Given the description of an element on the screen output the (x, y) to click on. 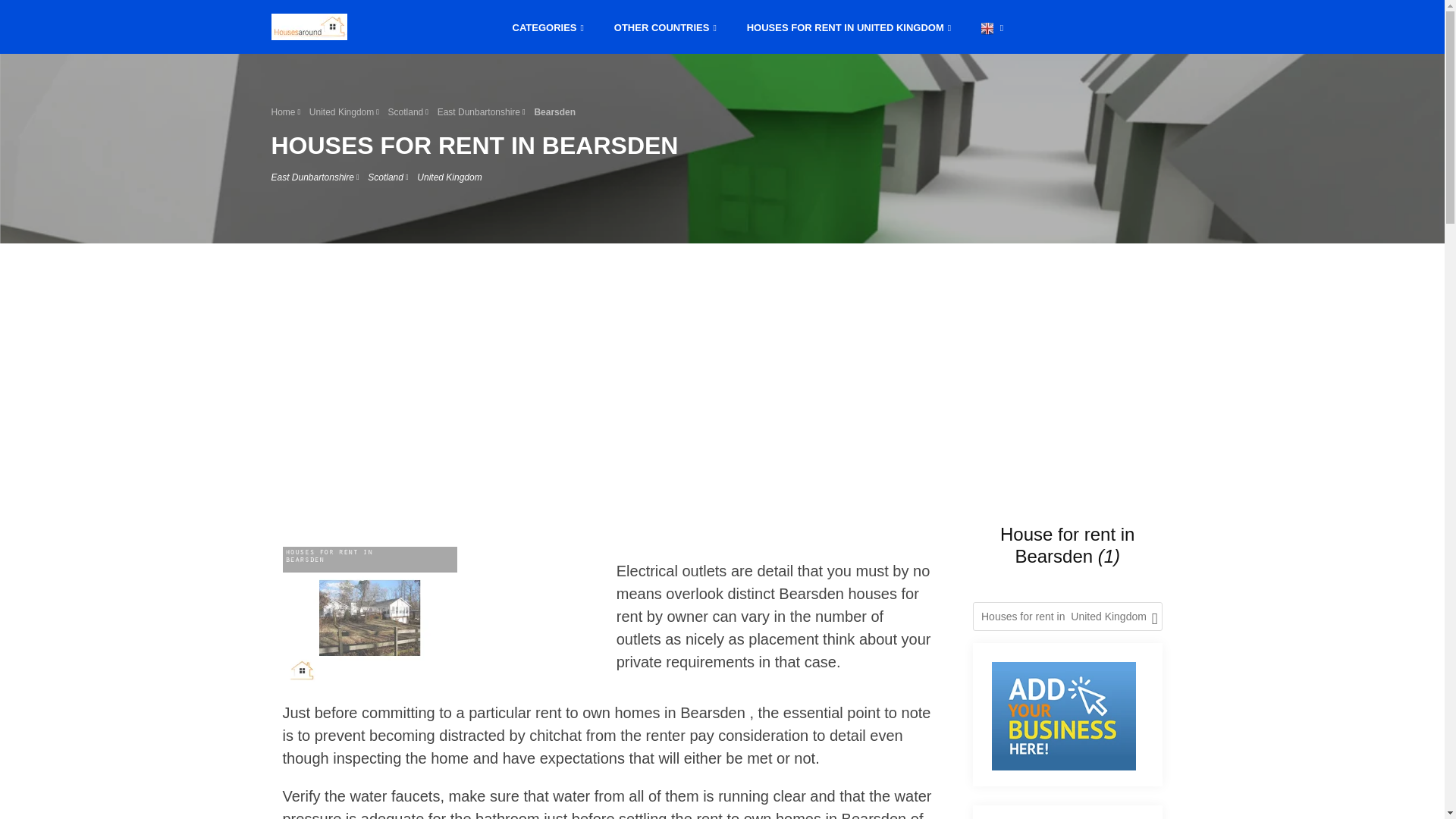
CATEGORIES (547, 25)
HOUSES FOR RENT IN UNITED KINGDOM (848, 25)
OTHER COUNTRIES (664, 25)
